Given the description of an element on the screen output the (x, y) to click on. 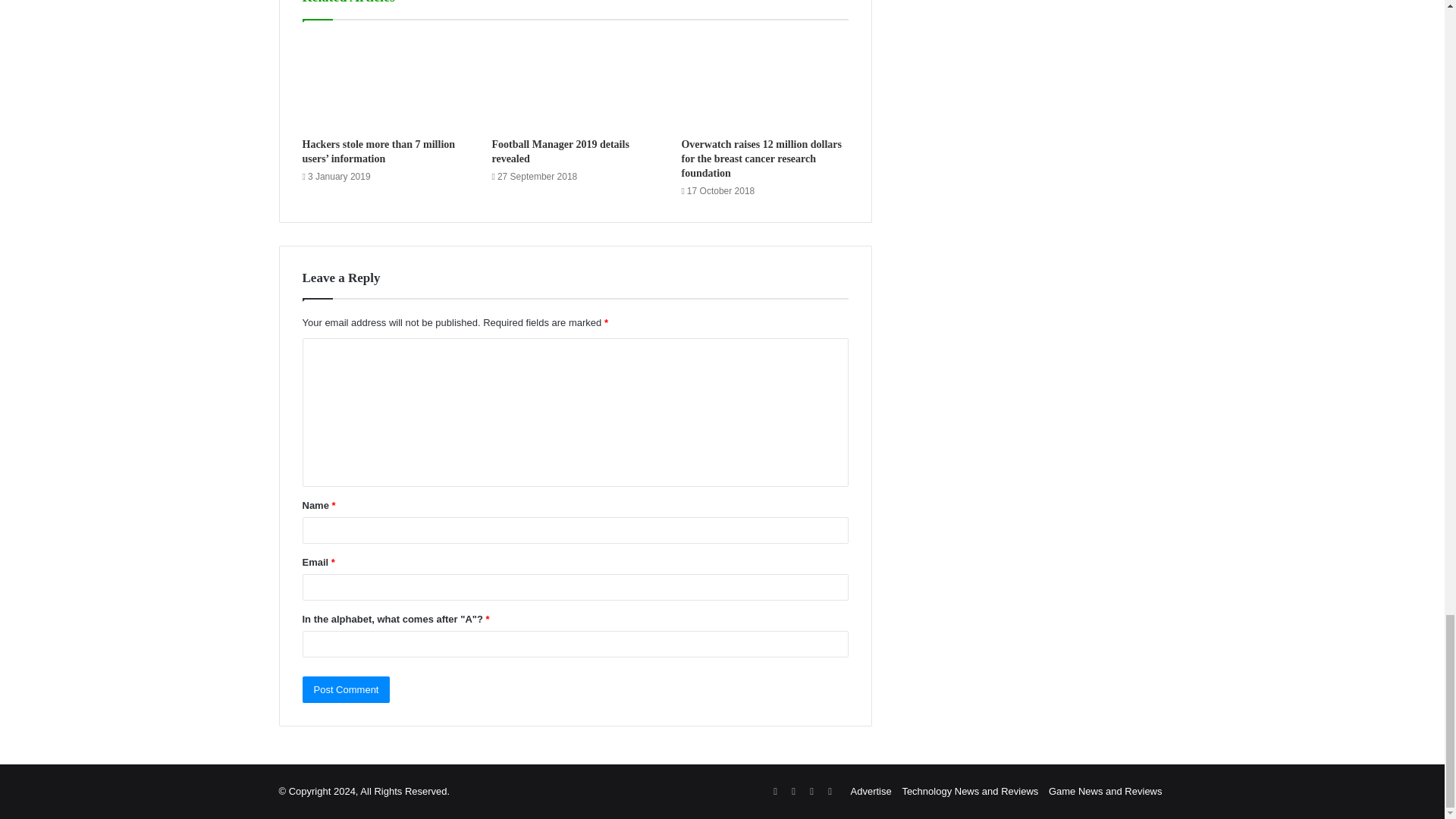
Hackers stole more than 7 million users' information 3 (384, 82)
Football Manager 2019 details revealed 4 (575, 82)
Post Comment (345, 689)
